Given the description of an element on the screen output the (x, y) to click on. 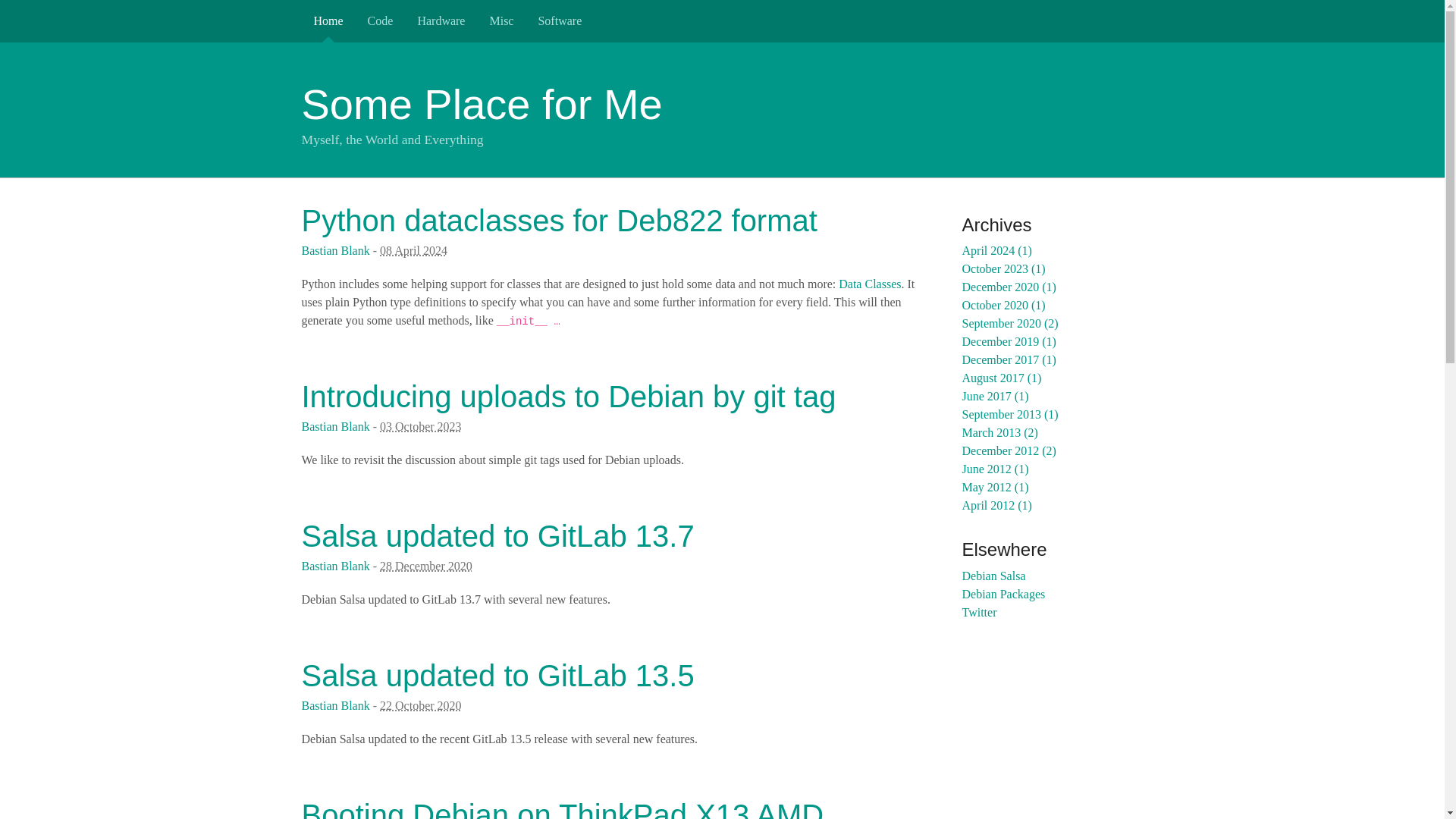
Code (380, 21)
Introducing uploads to Debian by git tag (568, 396)
Bastian Blank (335, 426)
Bastian Blank (335, 250)
Permalink to Python dataclasses for Deb822 format (558, 220)
Salsa updated to GitLab 13.7 (497, 535)
Software (559, 21)
Bastian Blank (335, 705)
Permalink to Salsa updated to GitLab 13.7 (497, 535)
Python dataclasses for Deb822 format (558, 220)
